Given the description of an element on the screen output the (x, y) to click on. 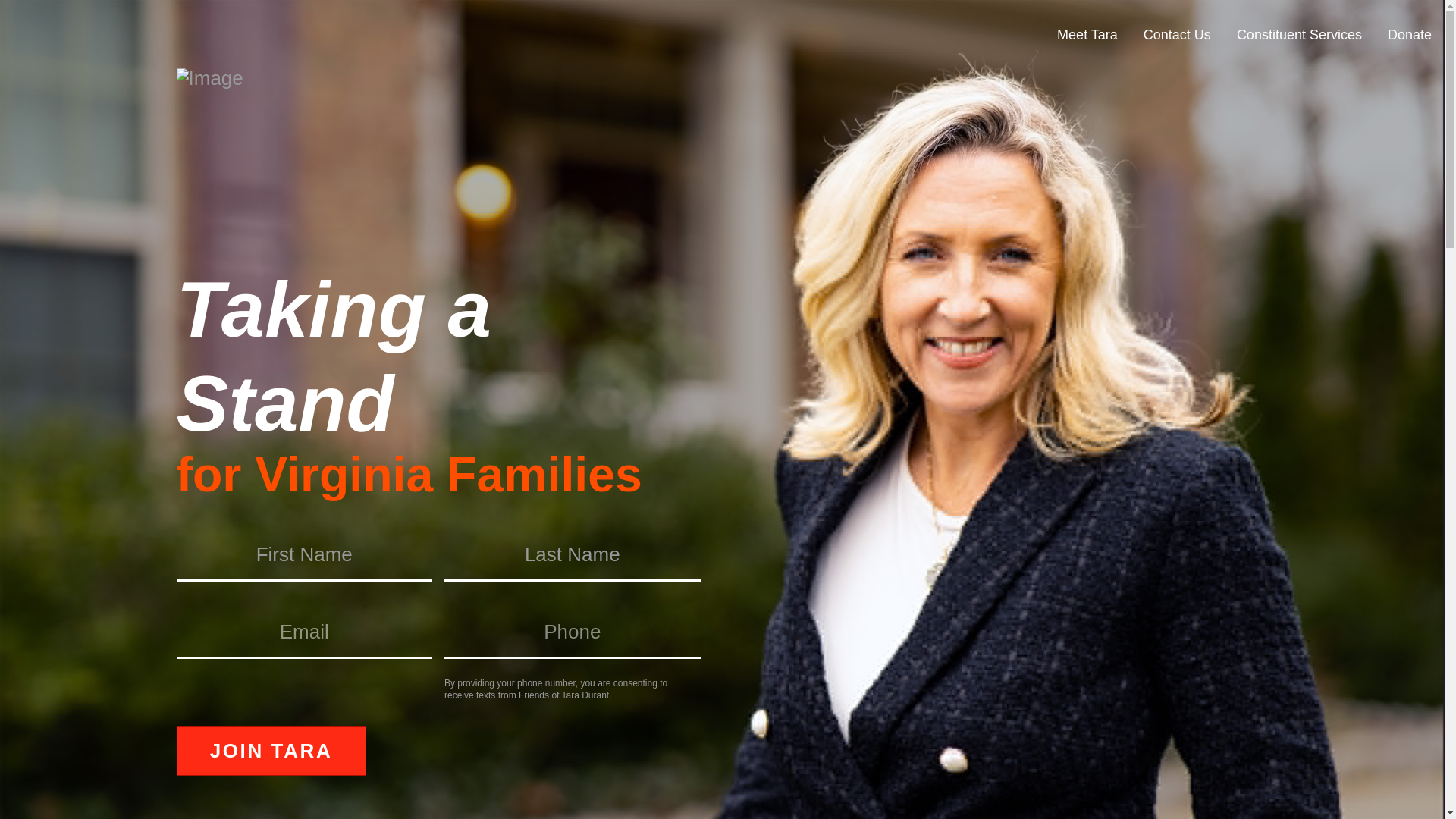
Meet Tara (1087, 34)
JOIN TARA (270, 750)
Contact Us (1177, 34)
JOIN TARA (270, 750)
Constituent Services (1299, 34)
